Given the description of an element on the screen output the (x, y) to click on. 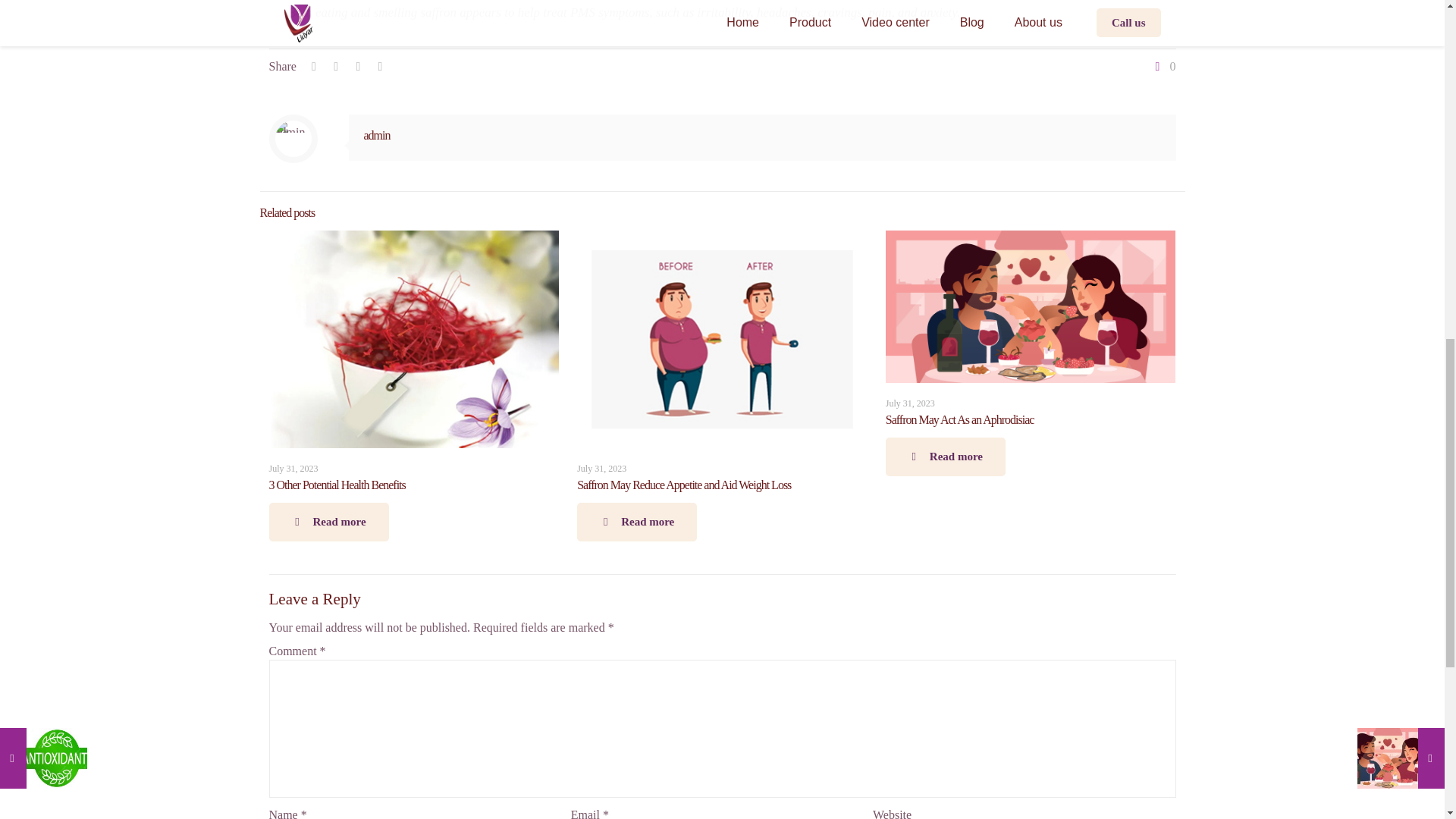
Read more (636, 521)
0 (1162, 66)
3 Other Potential Health Benefits (335, 484)
Saffron May Reduce Appetite and Aid Weight Loss (683, 484)
Read more (945, 456)
Saffron May Act As an Aphrodisiac (959, 419)
admin (377, 134)
Read more (327, 521)
